Given the description of an element on the screen output the (x, y) to click on. 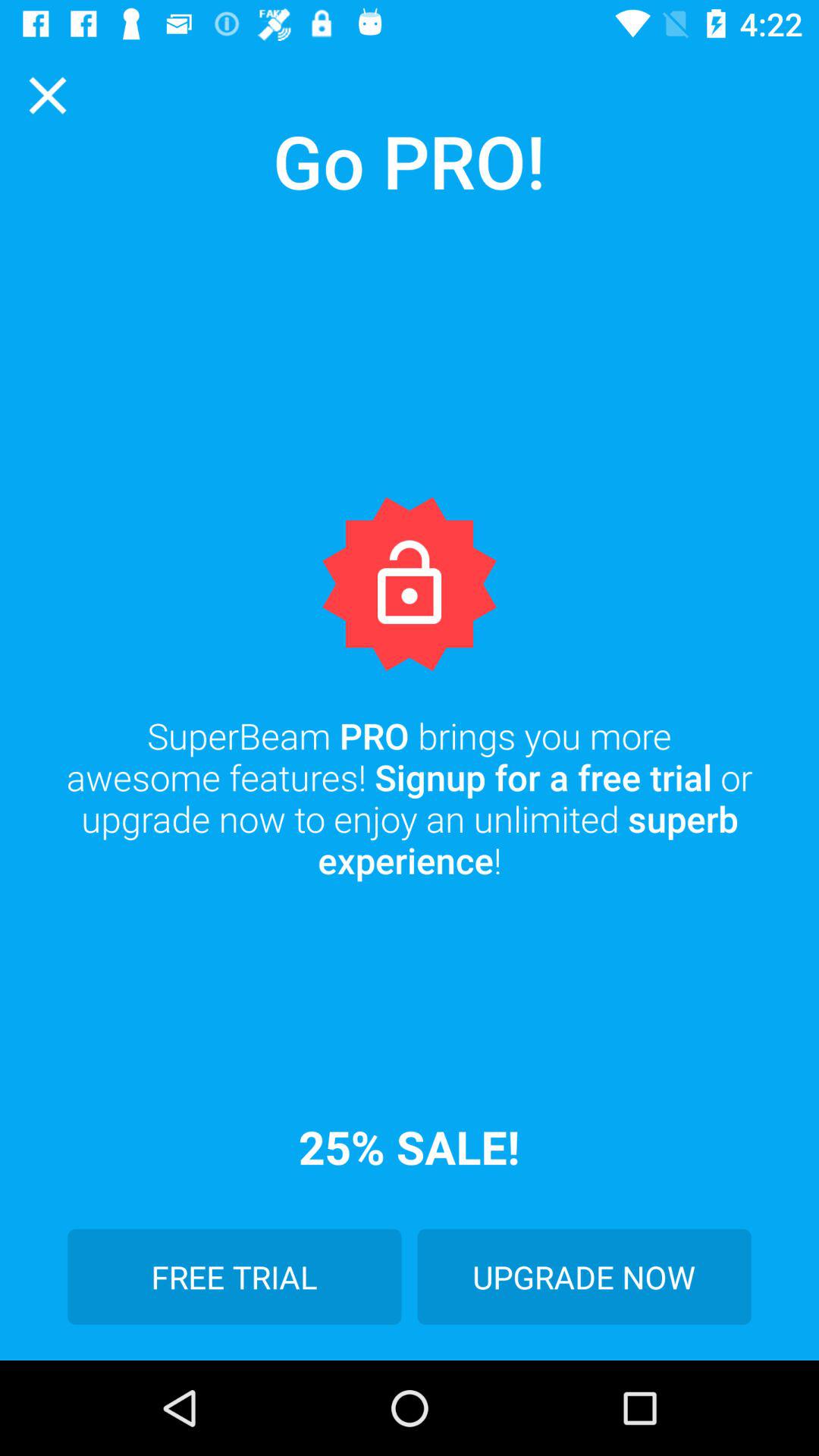
turn on the item to the left of the go pro! (47, 95)
